Given the description of an element on the screen output the (x, y) to click on. 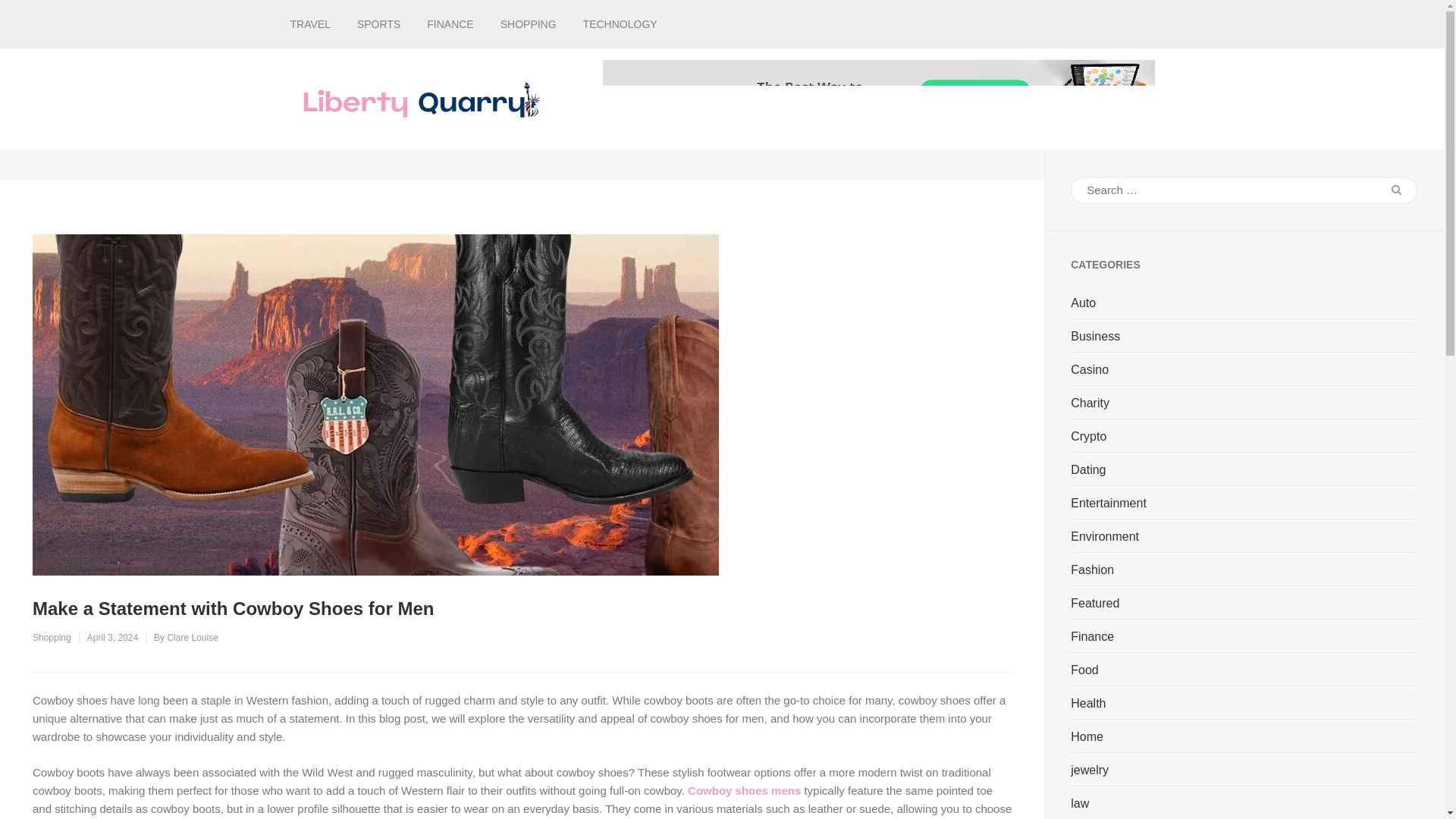
Search (1395, 189)
Clare Louise (191, 637)
Cowboy shoes mens (743, 789)
Health (1087, 703)
Dating (1087, 469)
Food (1083, 669)
Finance (1091, 636)
Fashion (1091, 569)
Entertainment (1108, 503)
Shopping (51, 637)
